Given the description of an element on the screen output the (x, y) to click on. 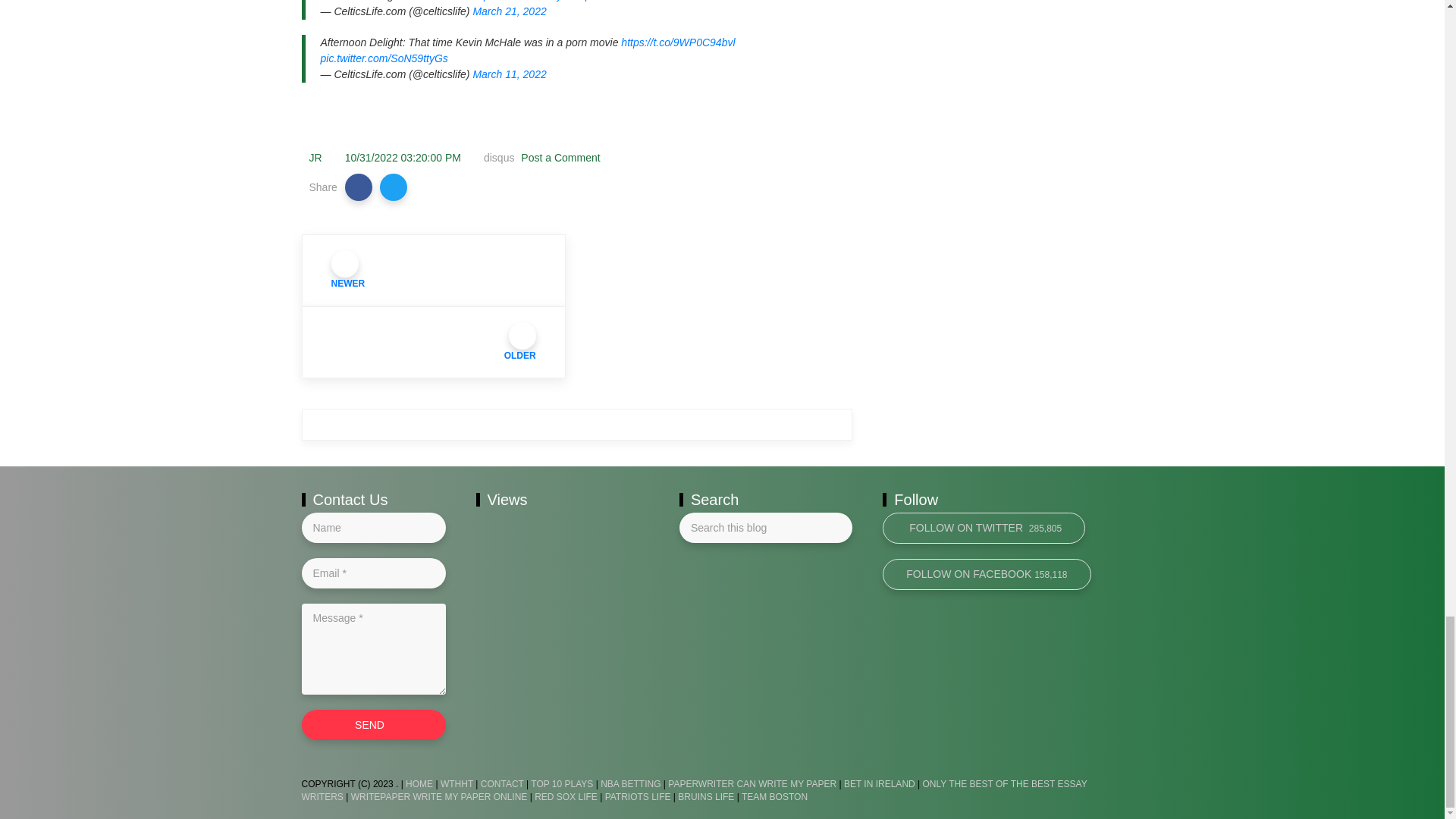
Share to Twitter (393, 186)
March 11, 2022 (508, 73)
JR (314, 157)
author profile (314, 157)
Share to Facebook (358, 186)
March 21, 2022 (508, 10)
permanent link (403, 157)
NEWER (433, 270)
Post a Comment (558, 157)
